Given the description of an element on the screen output the (x, y) to click on. 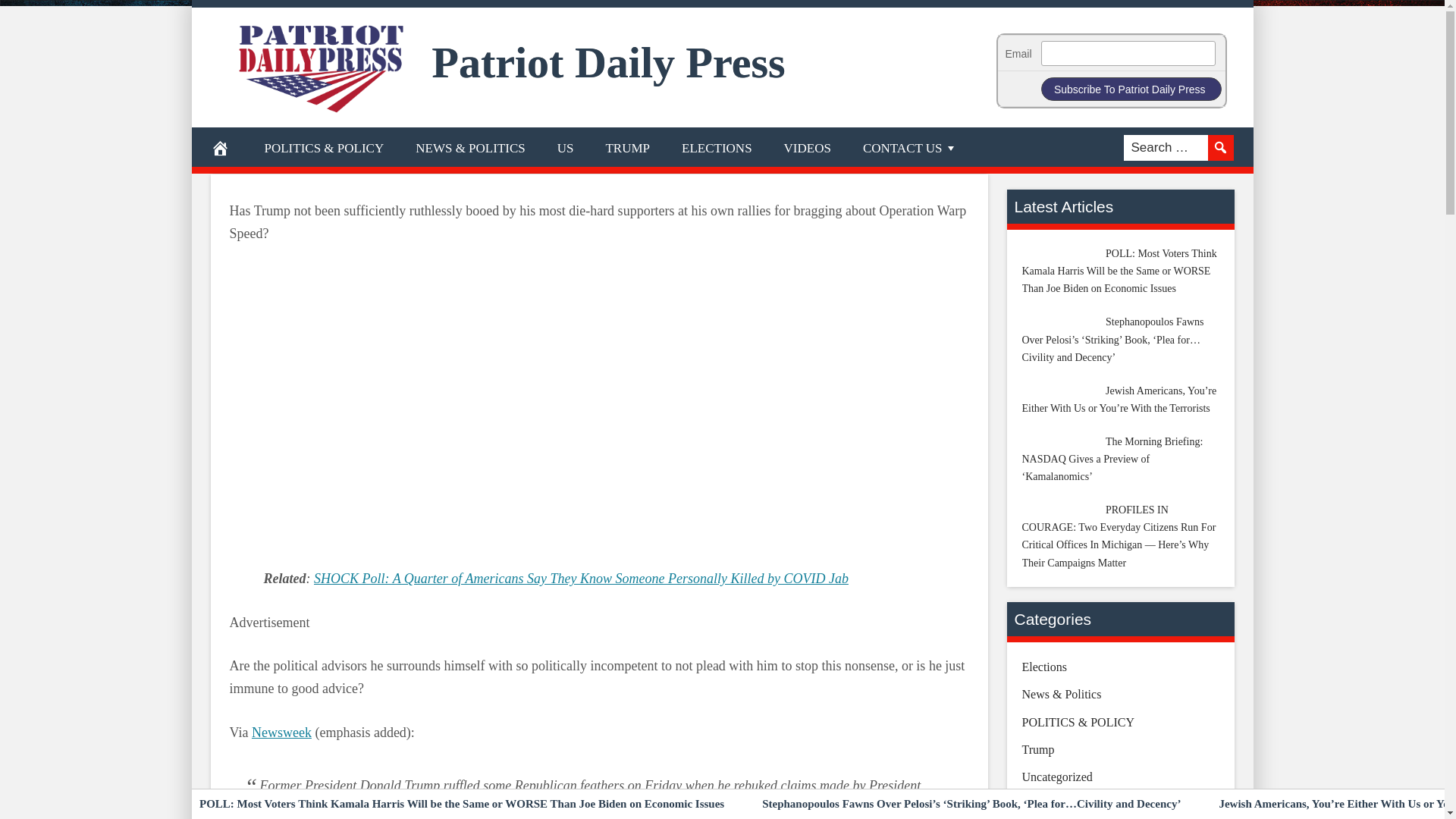
Patriot Daily Press (609, 61)
CONTACT US (910, 147)
Subscribe To Patriot Daily Press  (1131, 88)
ELECTIONS (716, 147)
Subscribe To Patriot Daily Press  (1131, 88)
VIDEOS (807, 147)
US (565, 147)
TRUMP (627, 147)
